Given the description of an element on the screen output the (x, y) to click on. 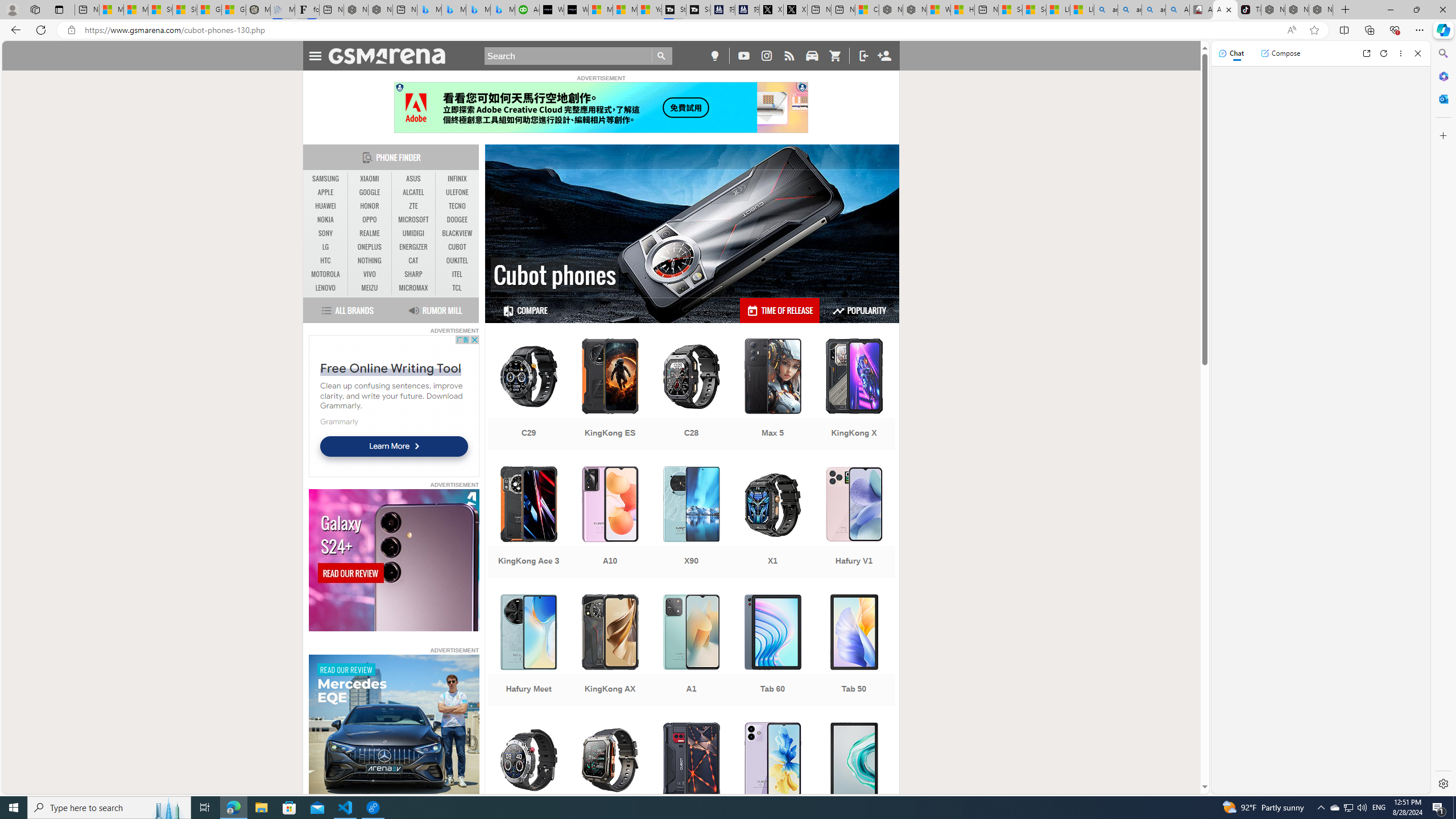
XIAOMI (369, 178)
ULEFONE (457, 192)
HTC (325, 260)
MEIZU (369, 287)
ENERGIZER (413, 246)
KingKong ES (609, 395)
TECNO (457, 206)
